Given the description of an element on the screen output the (x, y) to click on. 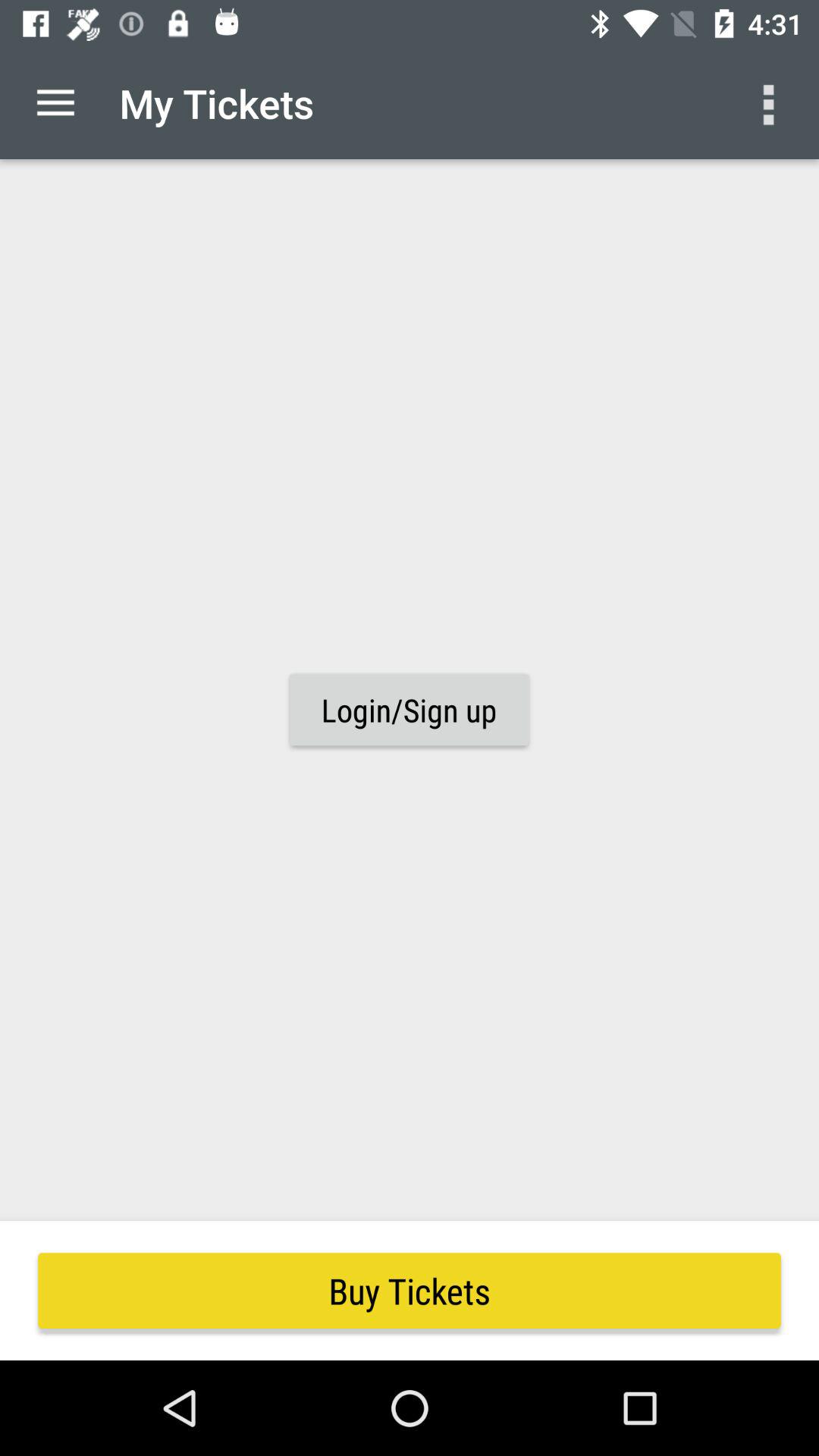
turn off the icon at the top right corner (771, 103)
